Given the description of an element on the screen output the (x, y) to click on. 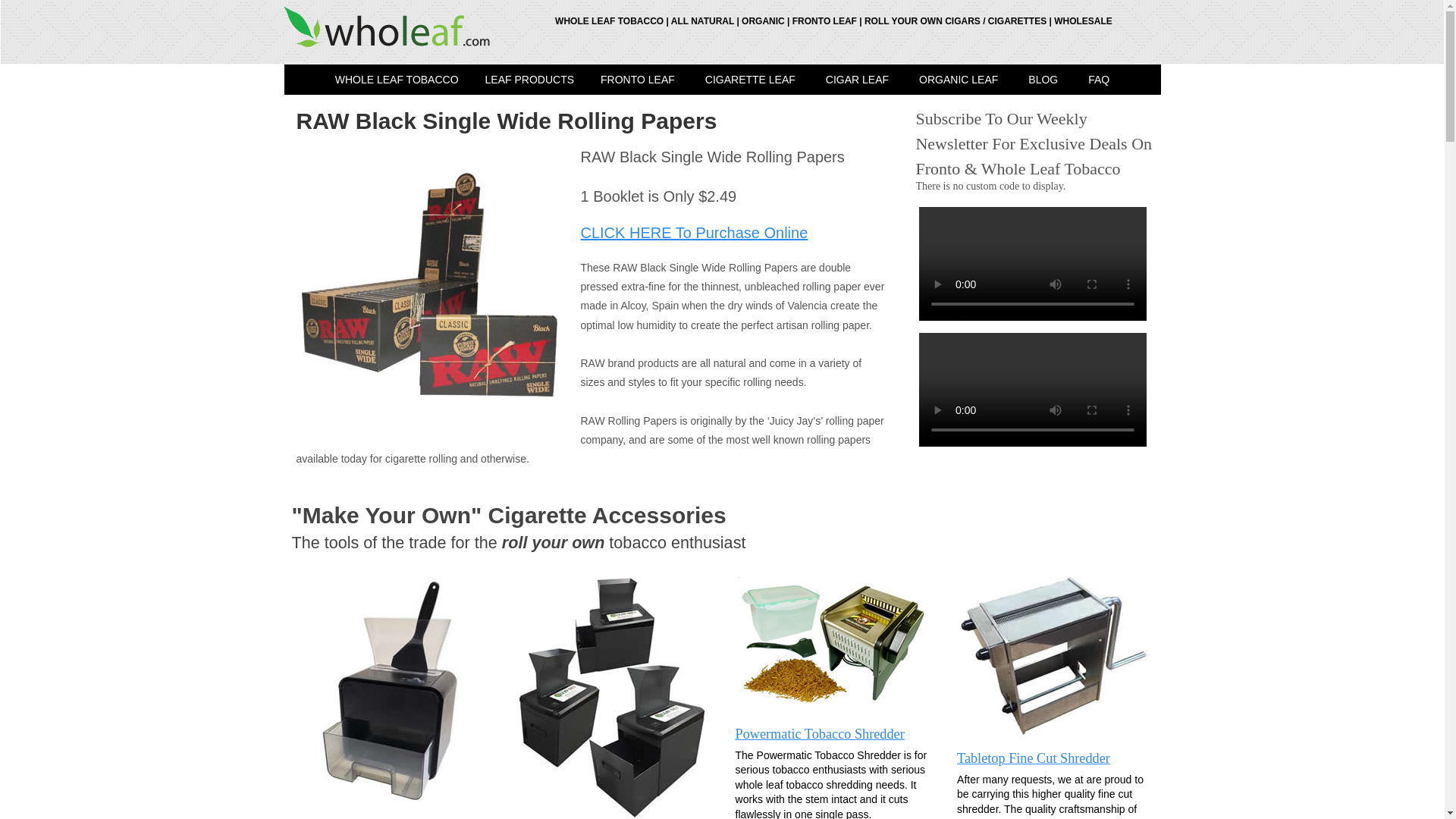
Whole-Leaf-Tobacco (397, 79)
Wholesale-Tobacco (529, 79)
WHOLE LEAF TOBACCO (397, 79)
LEAF PRODUCTS (529, 79)
